Given the description of an element on the screen output the (x, y) to click on. 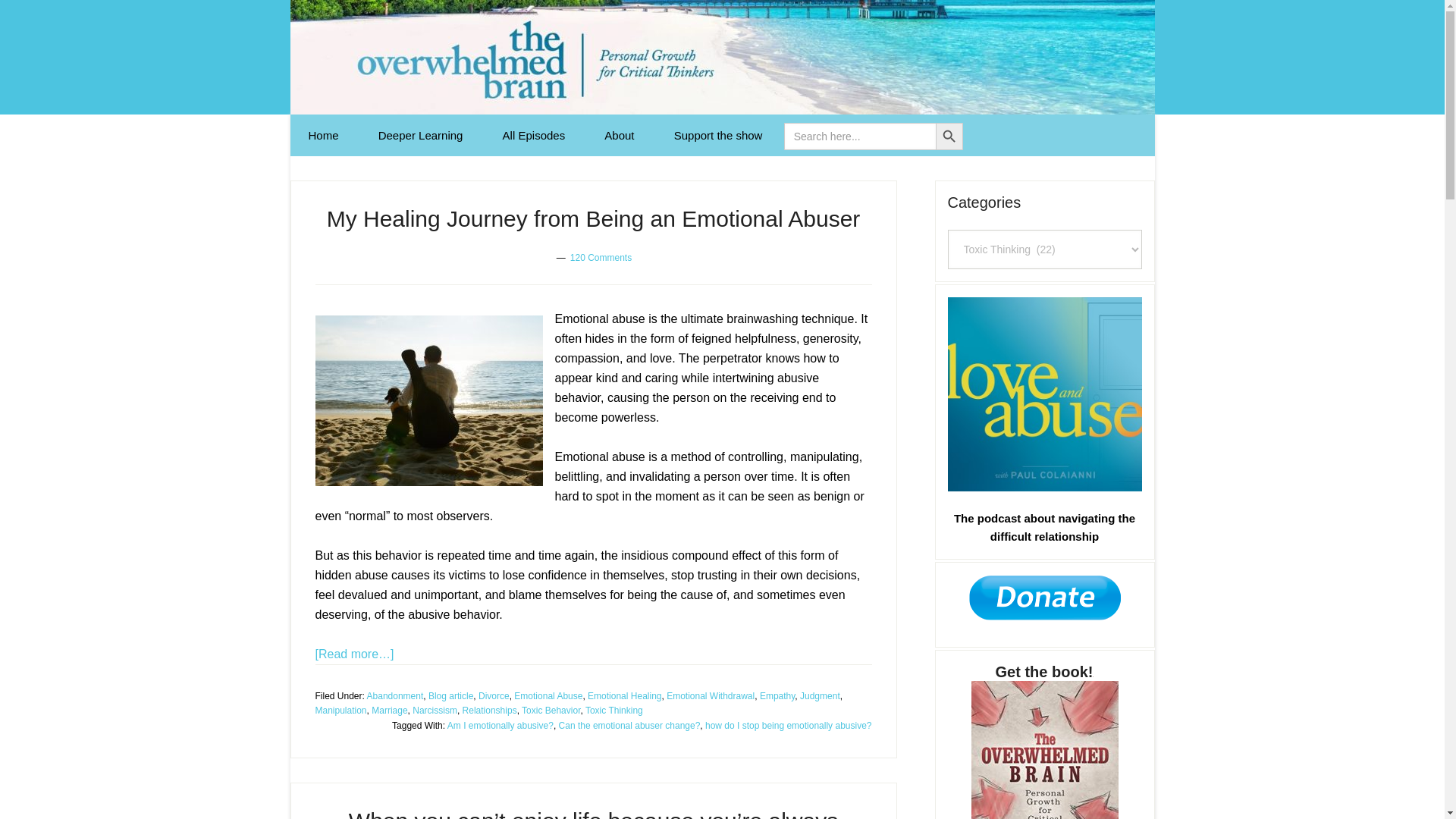
120 Comments (600, 257)
Emotional Healing (624, 695)
Relationships (489, 710)
Marriage (389, 710)
About (619, 135)
how do I stop being emotionally abusive? (787, 725)
Empathy (777, 695)
Divorce (494, 695)
Manipulation (340, 710)
Search Button (949, 135)
